Given the description of an element on the screen output the (x, y) to click on. 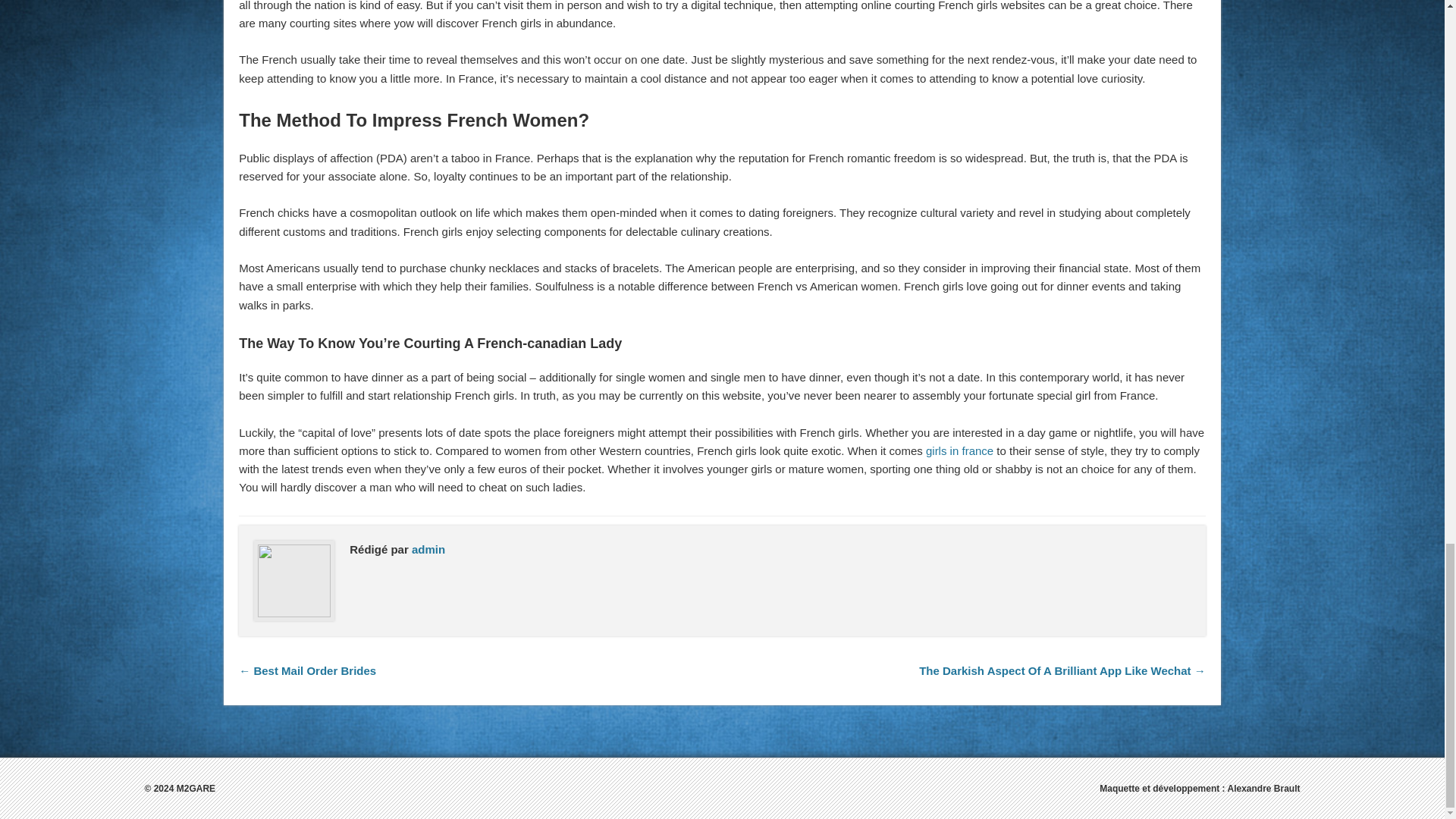
girls in france (959, 450)
Articles par admin (428, 549)
admin (428, 549)
